Given the description of an element on the screen output the (x, y) to click on. 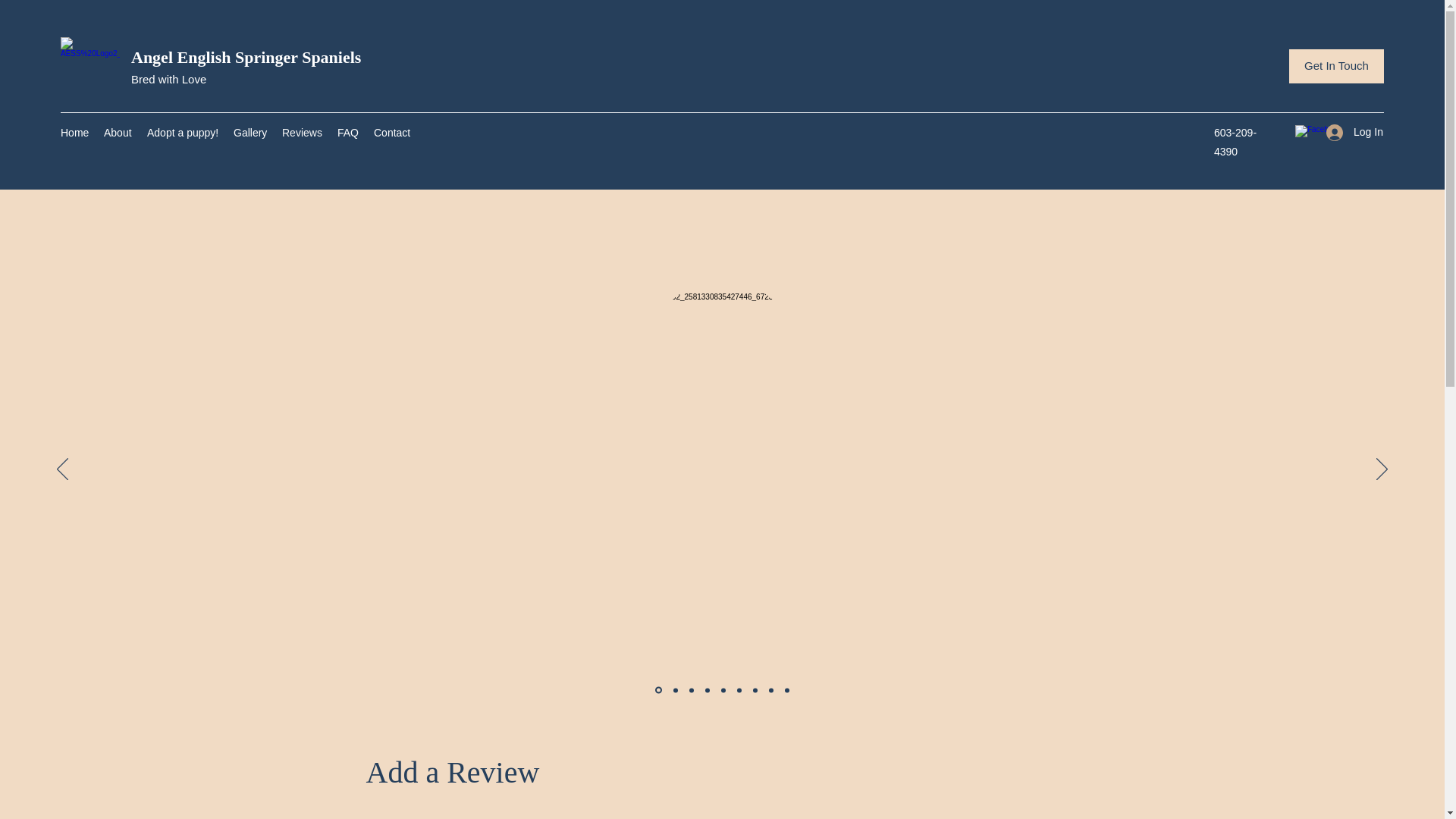
Log In (1350, 131)
Angel English Springer Spaniels (246, 56)
Home (74, 132)
Reviews (302, 132)
Contact (391, 132)
Get In Touch (1336, 66)
Adopt a puppy! (182, 132)
About (117, 132)
Gallery (250, 132)
FAQ (348, 132)
